Given the description of an element on the screen output the (x, y) to click on. 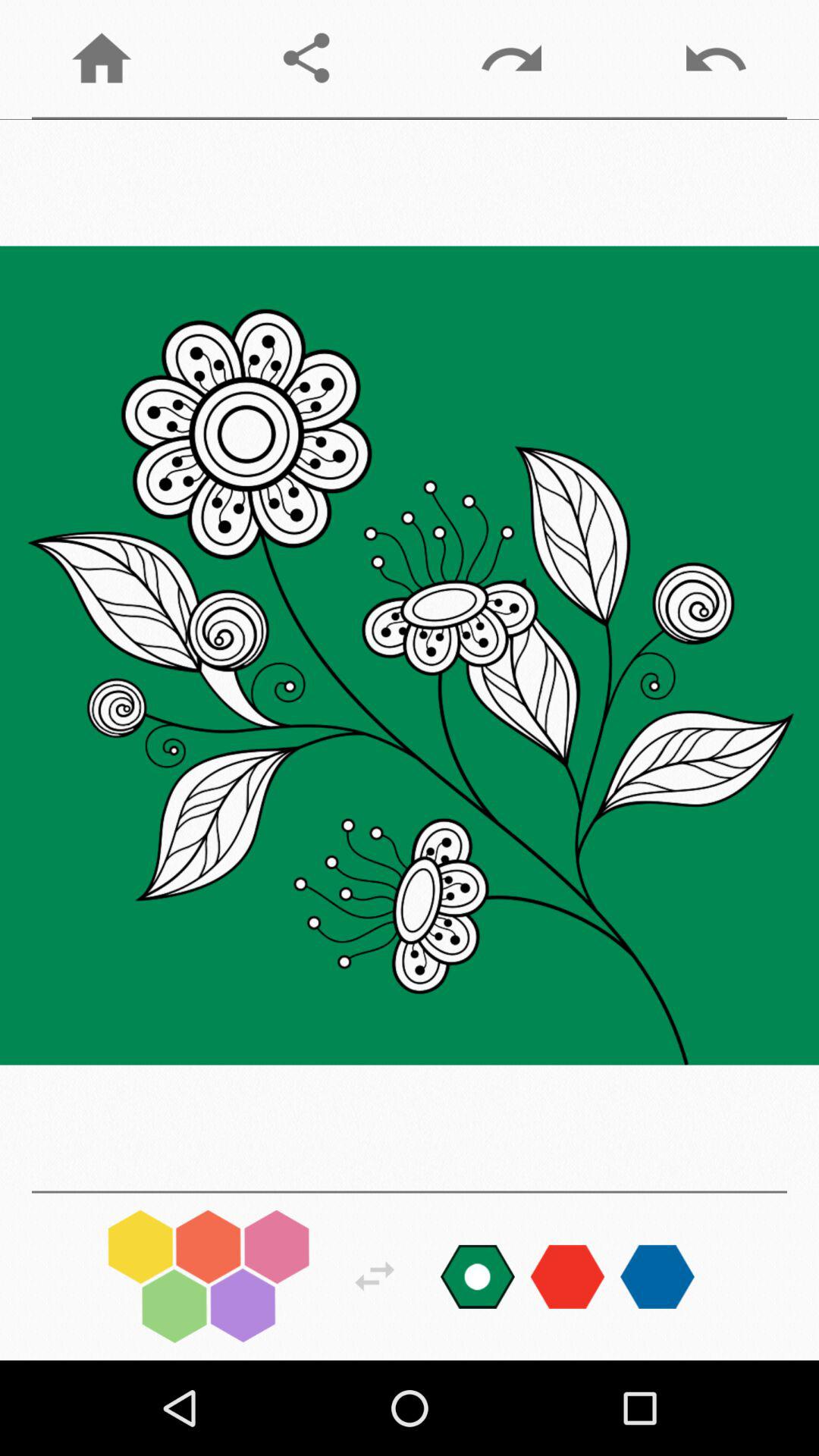
pick colors (208, 1276)
